Given the description of an element on the screen output the (x, y) to click on. 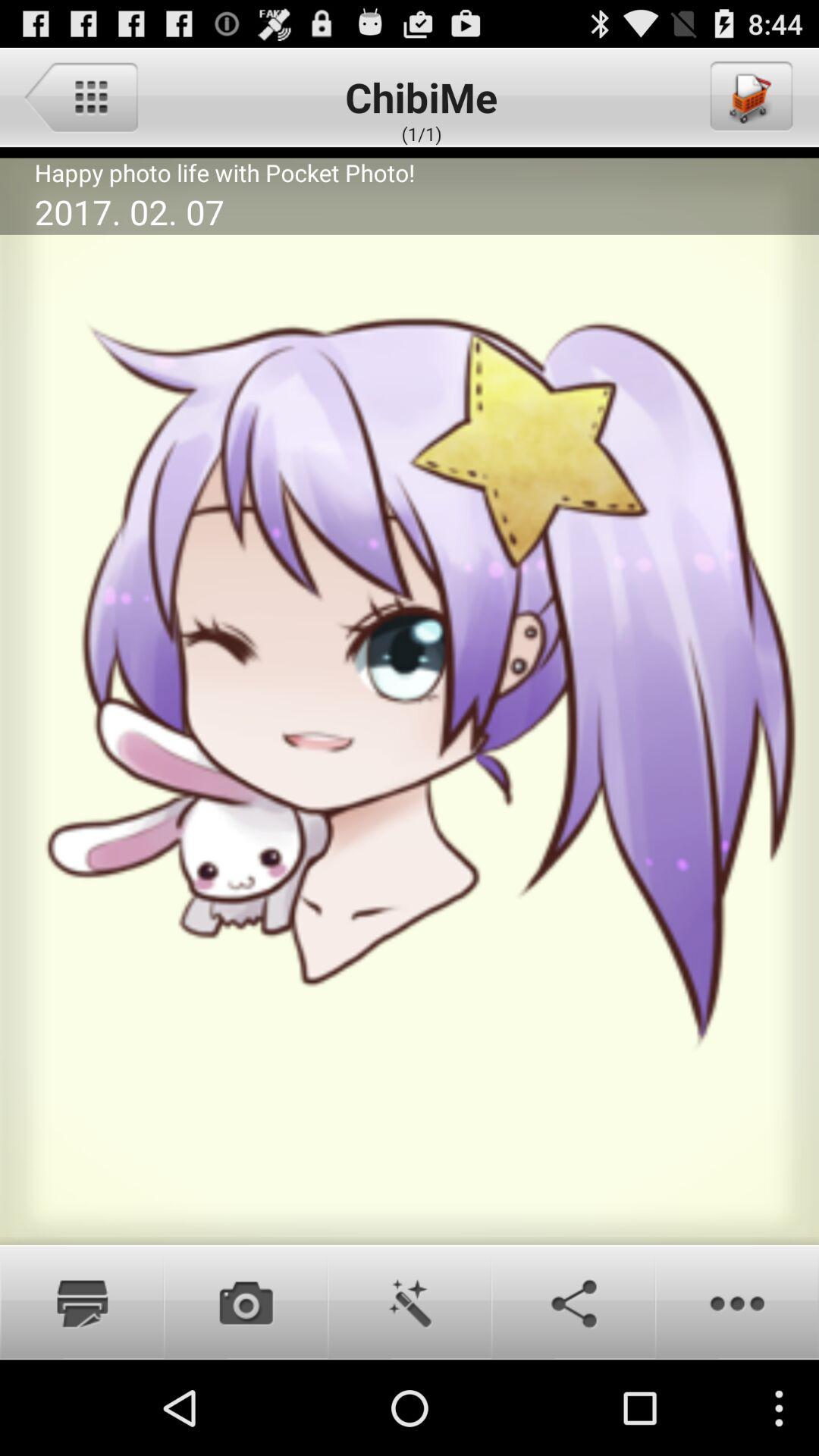
shopping cart button (749, 96)
